Given the description of an element on the screen output the (x, y) to click on. 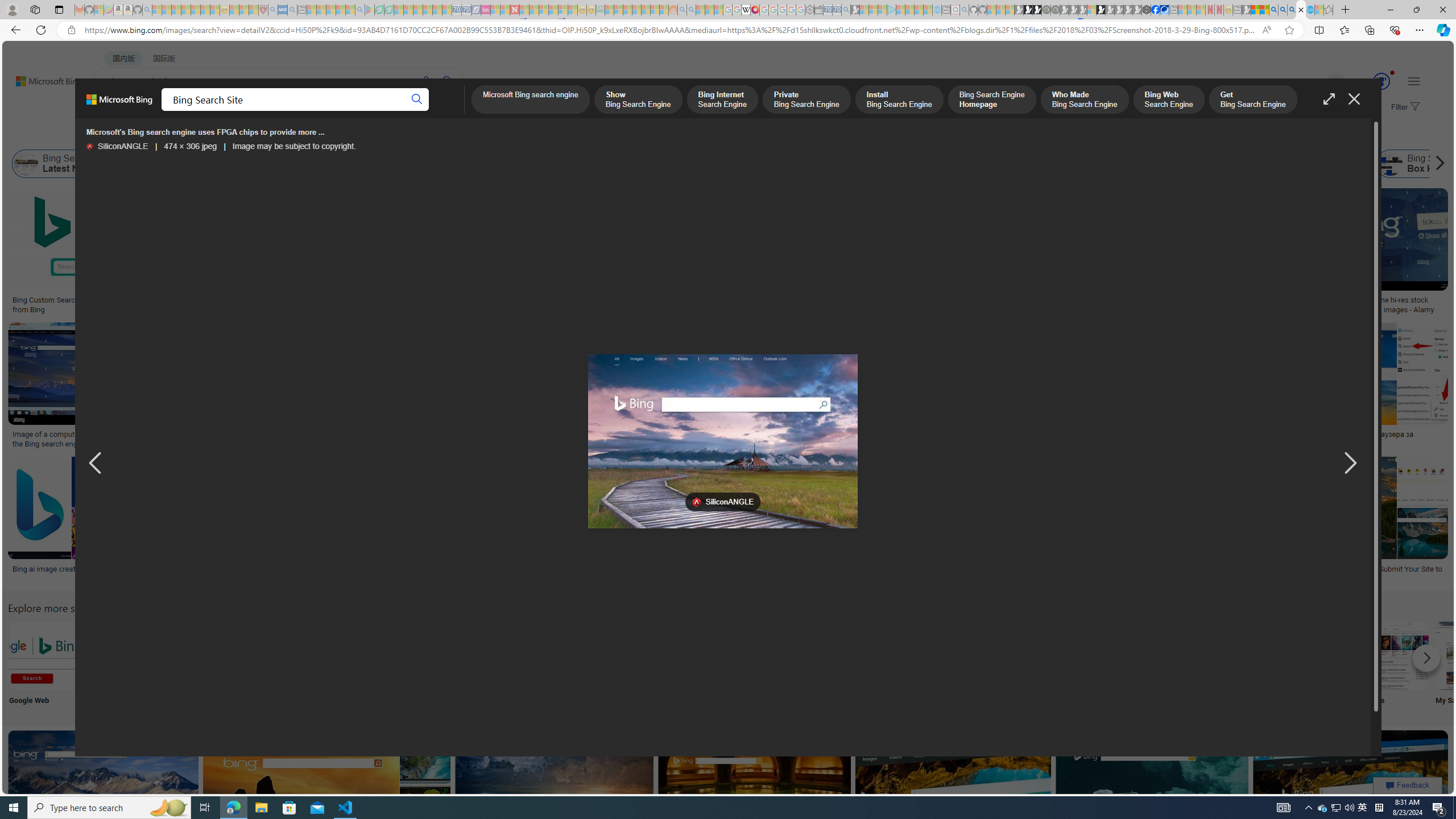
WEB (114, 111)
Microsoft Bing Search (679, 163)
Bing - SEOLend (219, 299)
Bing Search App Logo (118, 654)
Web Searching | Computer Applications for Managers (850, 573)
Show Bing Search Engine (505, 163)
AutomationID: rh_meter (1381, 80)
Bing Custom Search: A New Site Search Solution from Bing (96, 304)
Microsoft Bing Search (711, 163)
Bing Internet Search Engine (721, 100)
Google Web Search Bing Google Web (42, 665)
